Given the description of an element on the screen output the (x, y) to click on. 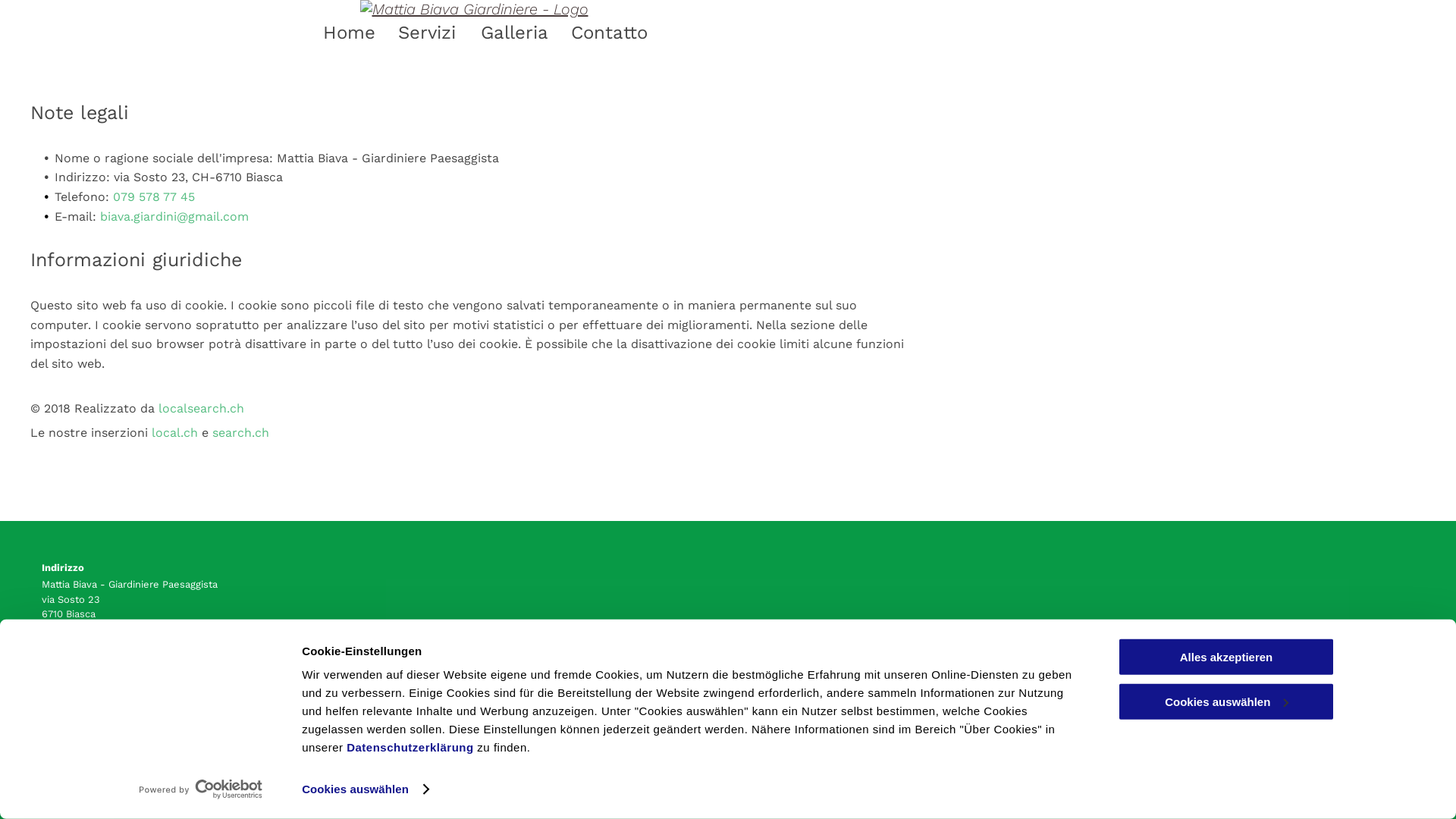
Servizi Element type: text (416, 32)
Contatto Element type: text (597, 32)
search.ch Element type: text (240, 432)
Galleria Element type: text (503, 32)
biava.giardini@gmail.com Element type: text (99, 678)
Home Element type: text (337, 32)
local.ch Element type: text (174, 432)
079 578 77 45 Element type: text (153, 196)
079 578 77 45 Element type: text (74, 647)
biava.giardini@gmail.com Element type: text (174, 216)
localsearch.ch Element type: text (201, 408)
Note legali Element type: text (67, 756)
Alles akzeptieren Element type: text (1225, 656)
